Given the description of an element on the screen output the (x, y) to click on. 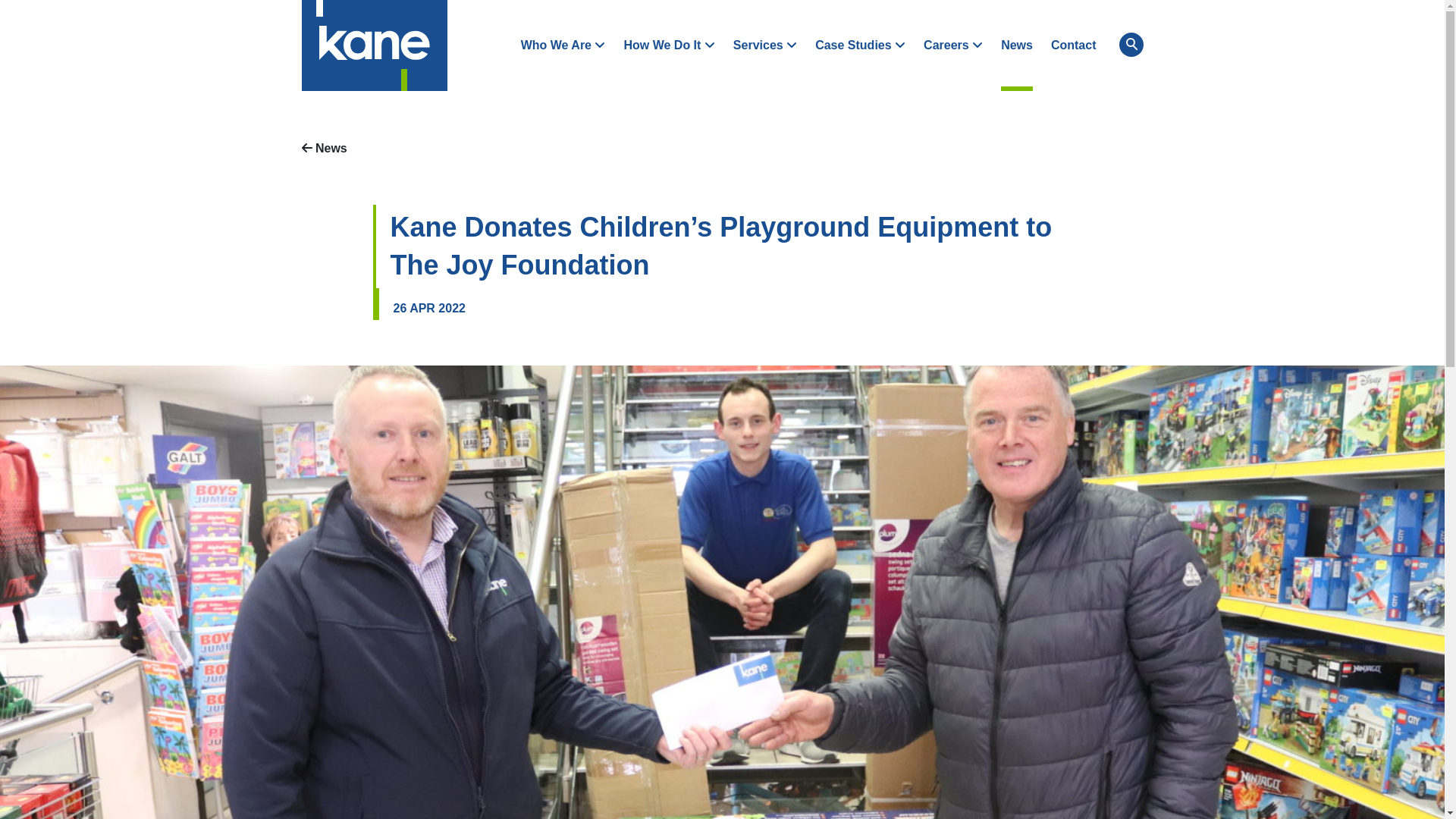
Who We Are (563, 45)
Contact (1073, 45)
How We Do It (668, 45)
Services (764, 45)
Careers (952, 45)
Case Studies (860, 45)
